Given the description of an element on the screen output the (x, y) to click on. 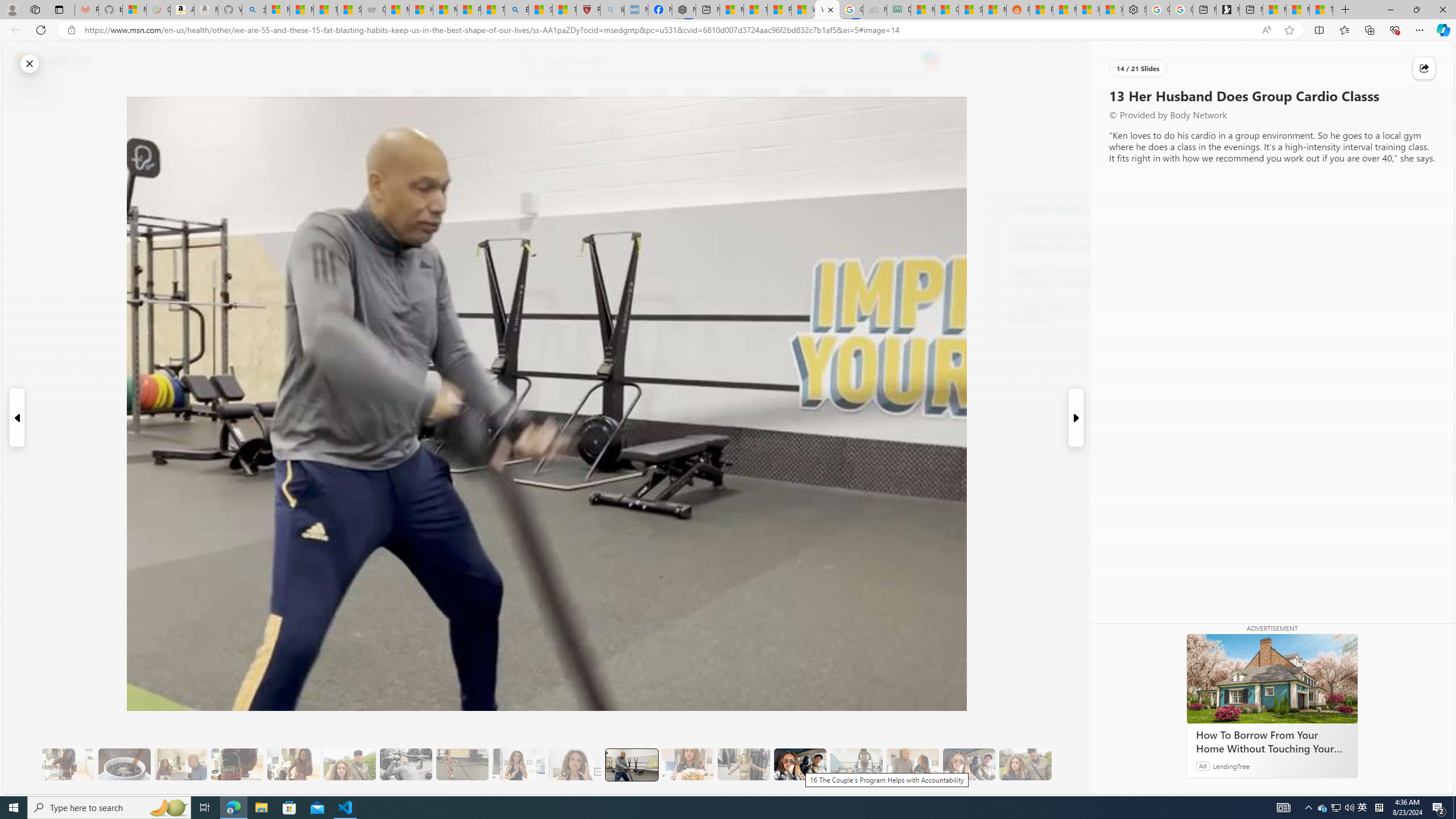
10 Then, They Do HIIT Cardio (462, 764)
Combat Siege (373, 9)
8 Reasons to Drink Kombucha, According to a Nutritionist (1071, 277)
Food & Drink (869, 92)
Visit Body Network website (1145, 207)
Recipes - MSN (469, 9)
19 It Also Simplifies Thiings (968, 764)
10 Then, They Do HIIT Cardio (462, 764)
